Given the description of an element on the screen output the (x, y) to click on. 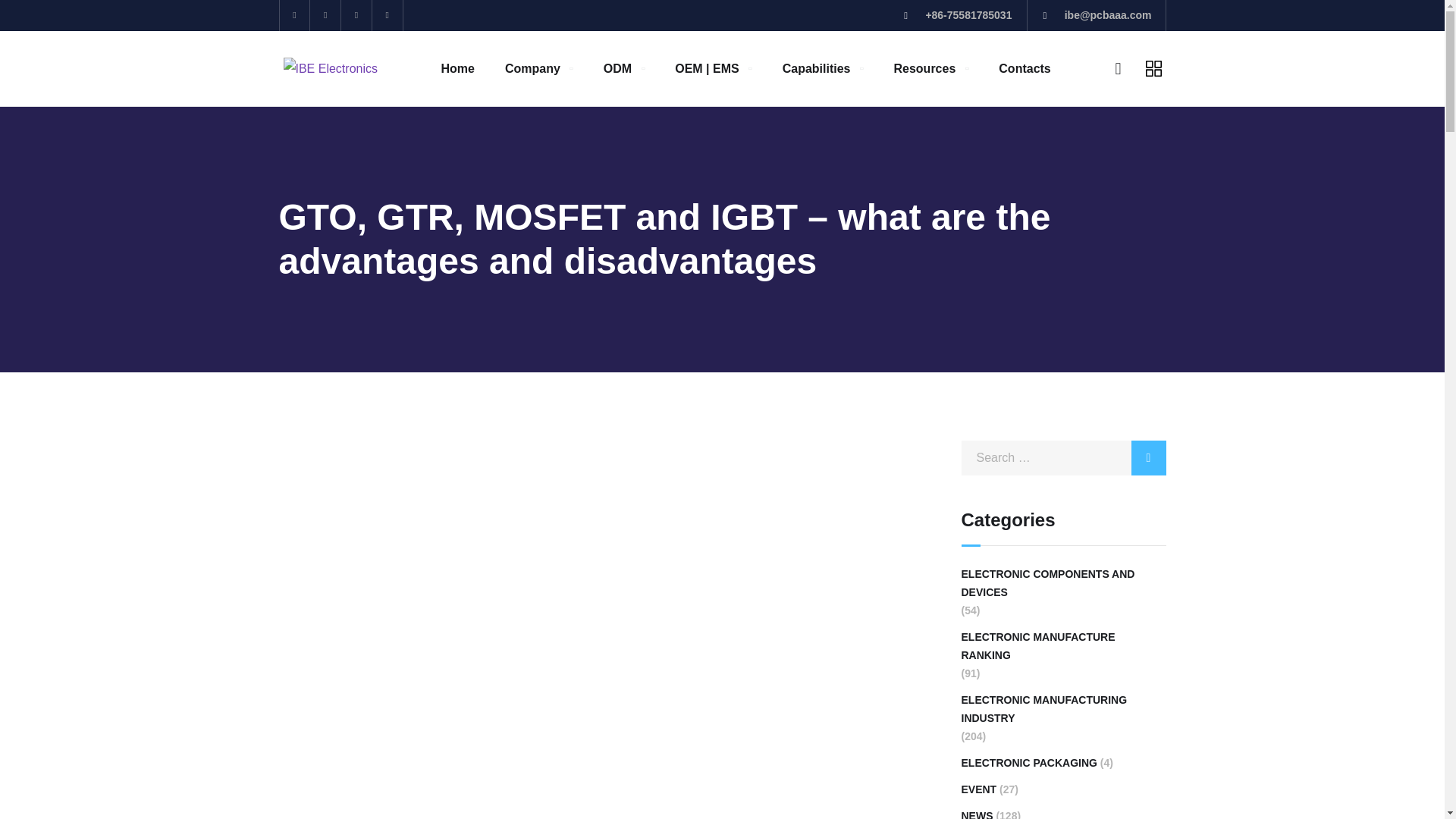
Company (539, 68)
Linkedin In (356, 15)
search (1148, 457)
twitter (294, 15)
Instagram (387, 15)
Facebook (325, 15)
